Given the description of an element on the screen output the (x, y) to click on. 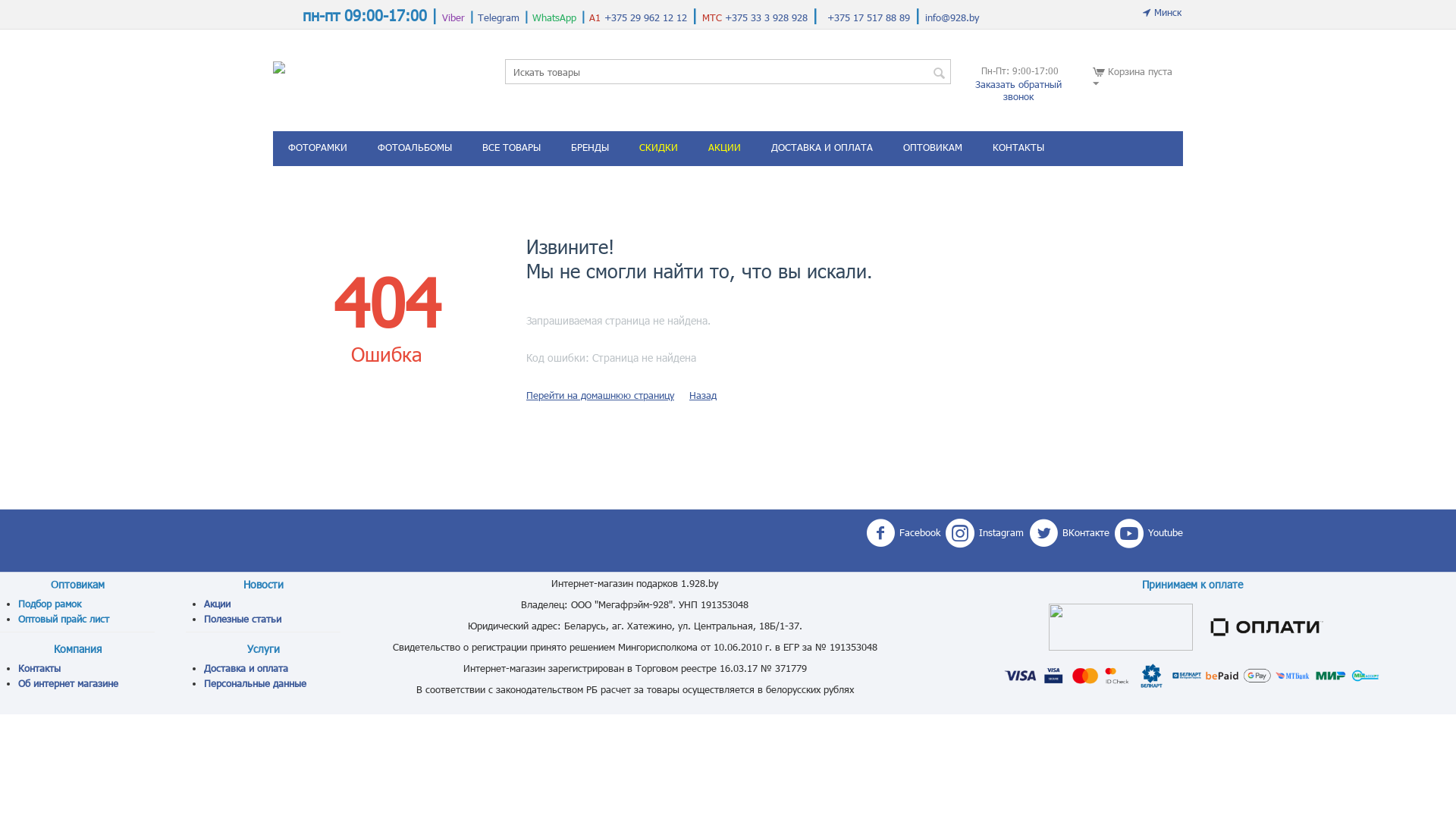
info@928.by Element type: text (952, 17)
WhatsApp Element type: text (554, 17)
Facebook Element type: text (903, 532)
+375 29 962 12 12 Element type: text (645, 17)
Telegram Element type: text (498, 17)
+375 17 517 88 89 Element type: text (868, 17)
Viber Element type: text (453, 17)
+375 33 3 928 928 Element type: text (764, 17)
Instagram Element type: text (984, 532)
Youtube Element type: text (1148, 532)
